Given the description of an element on the screen output the (x, y) to click on. 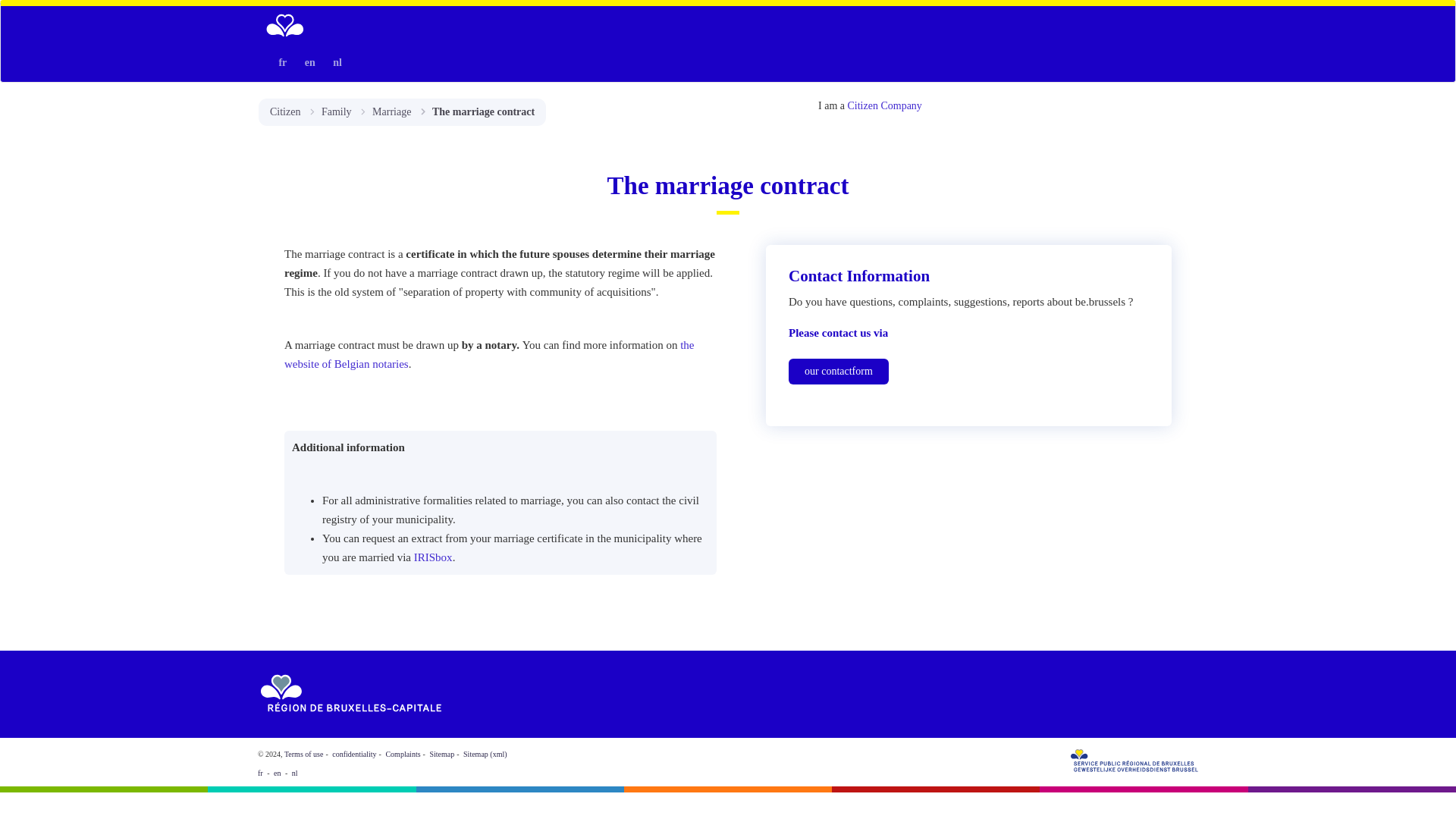
our contactform (838, 371)
Company (900, 105)
Family (336, 111)
confidentiality (353, 754)
Citizen (862, 105)
Complaints (402, 754)
nl (336, 61)
Sitemap (441, 754)
IRISbox (432, 557)
en (310, 61)
fr (282, 61)
Marriage (391, 111)
Terms of use (303, 754)
the website of Belgian notaries (488, 354)
Citizen (284, 111)
